Given the description of an element on the screen output the (x, y) to click on. 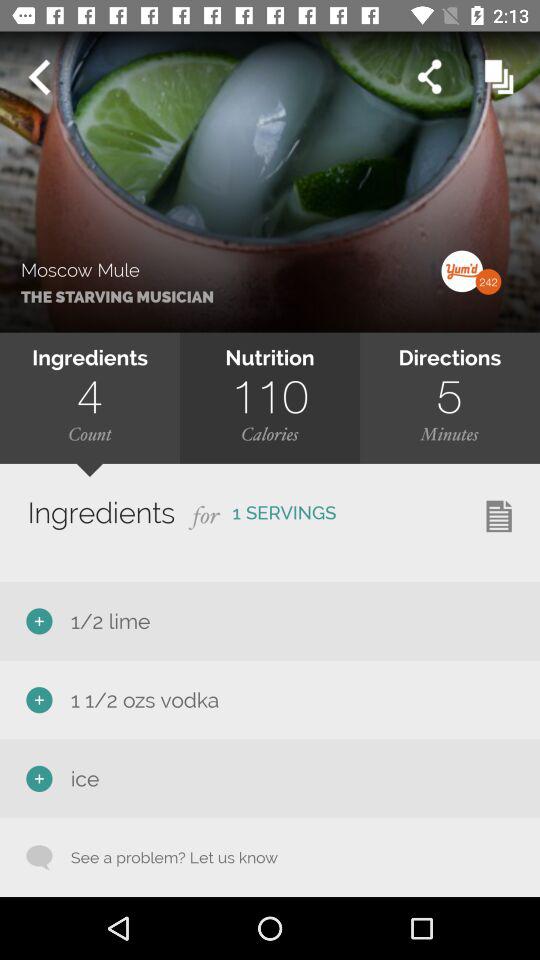
activates the option to share the post (429, 76)
